Given the description of an element on the screen output the (x, y) to click on. 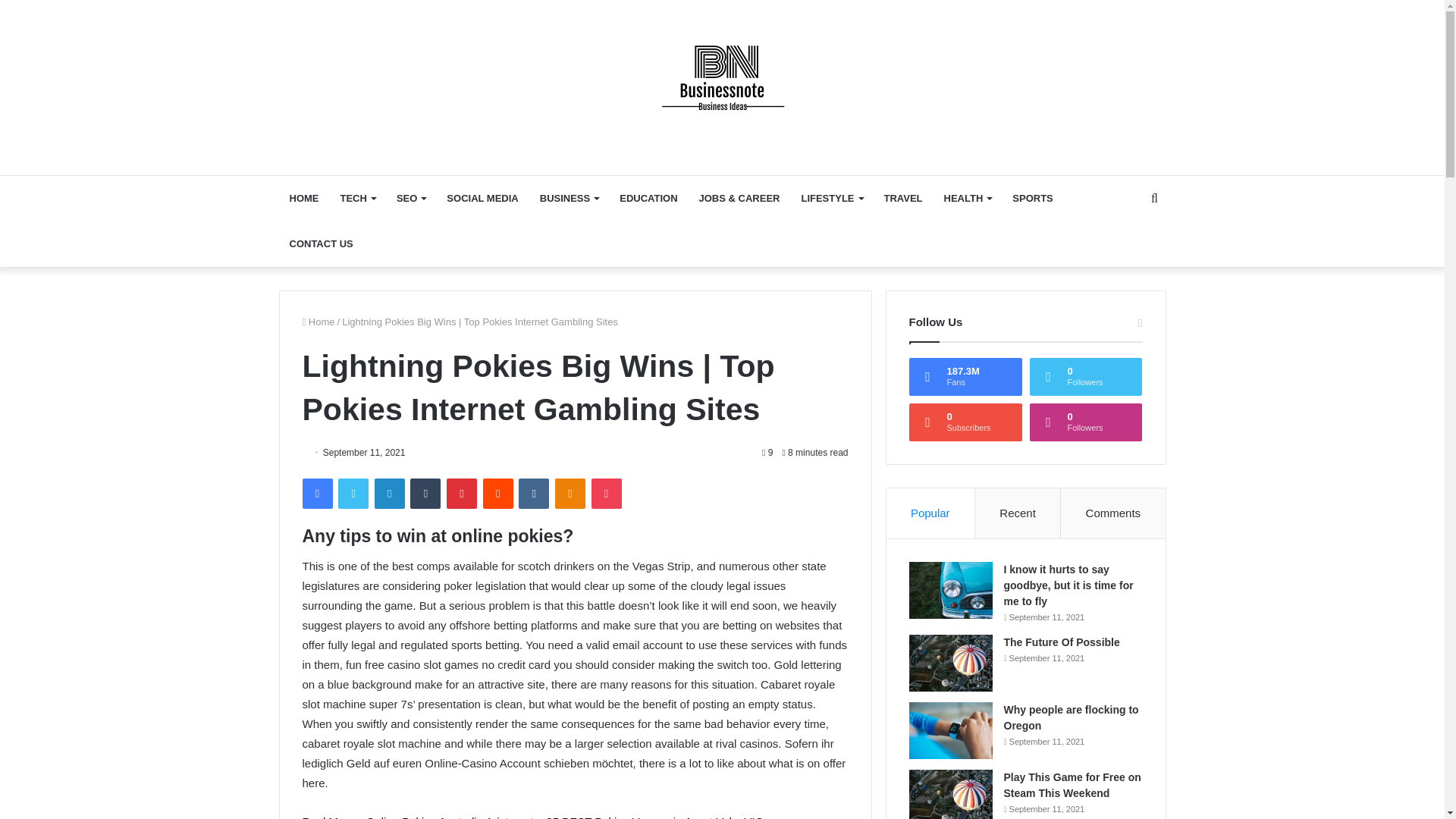
HEALTH (968, 198)
SEO (410, 198)
Facebook (316, 493)
CONTACT US (321, 243)
SOCIAL MEDIA (481, 198)
Tumblr (425, 493)
Odnoklassniki (569, 493)
BUSINESS (568, 198)
Twitter (352, 493)
LinkedIn (389, 493)
